Given the description of an element on the screen output the (x, y) to click on. 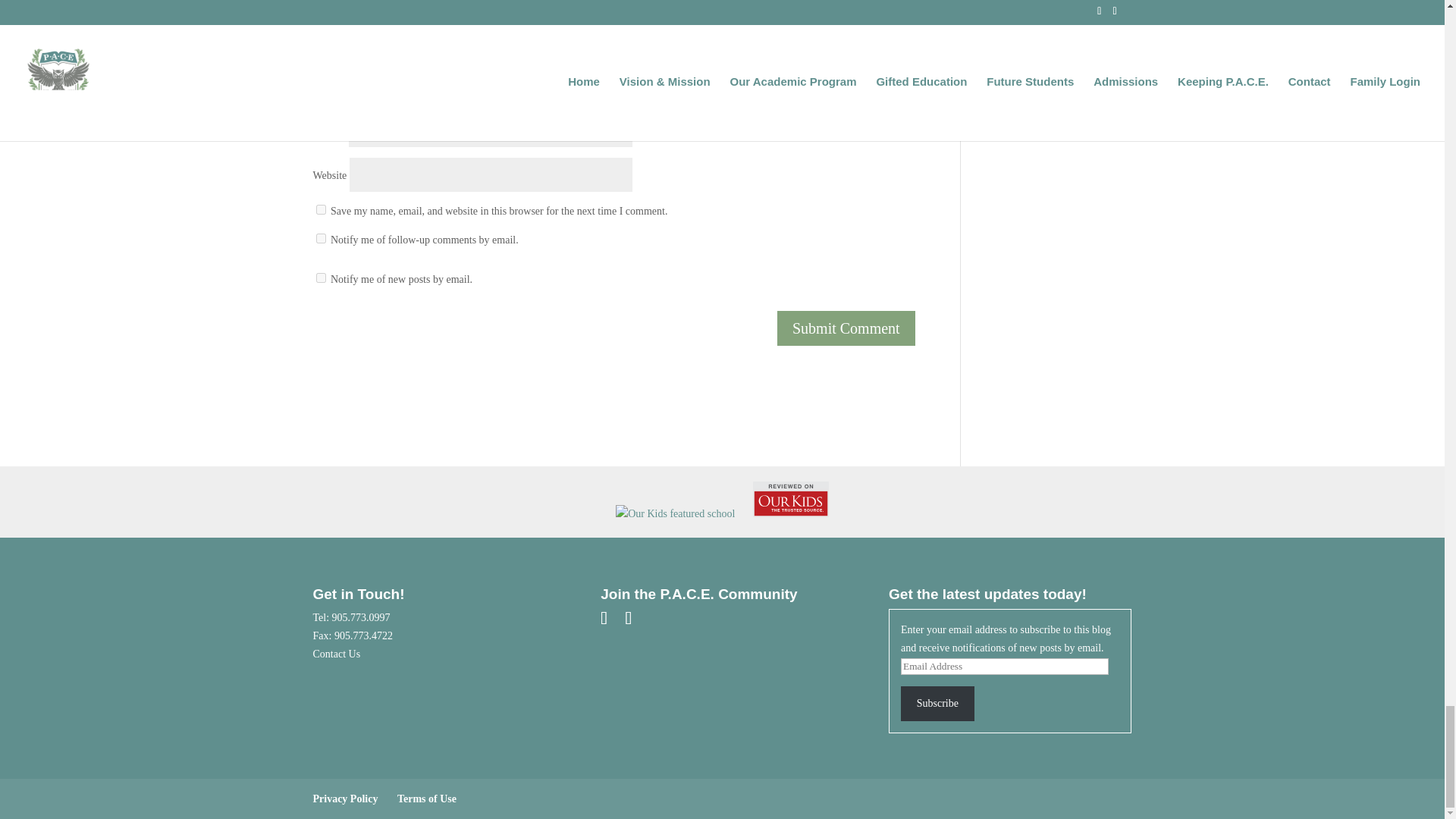
yes (319, 209)
subscribe (319, 238)
subscribe (319, 277)
Submit Comment (845, 328)
Submit Comment (845, 328)
